Given the description of an element on the screen output the (x, y) to click on. 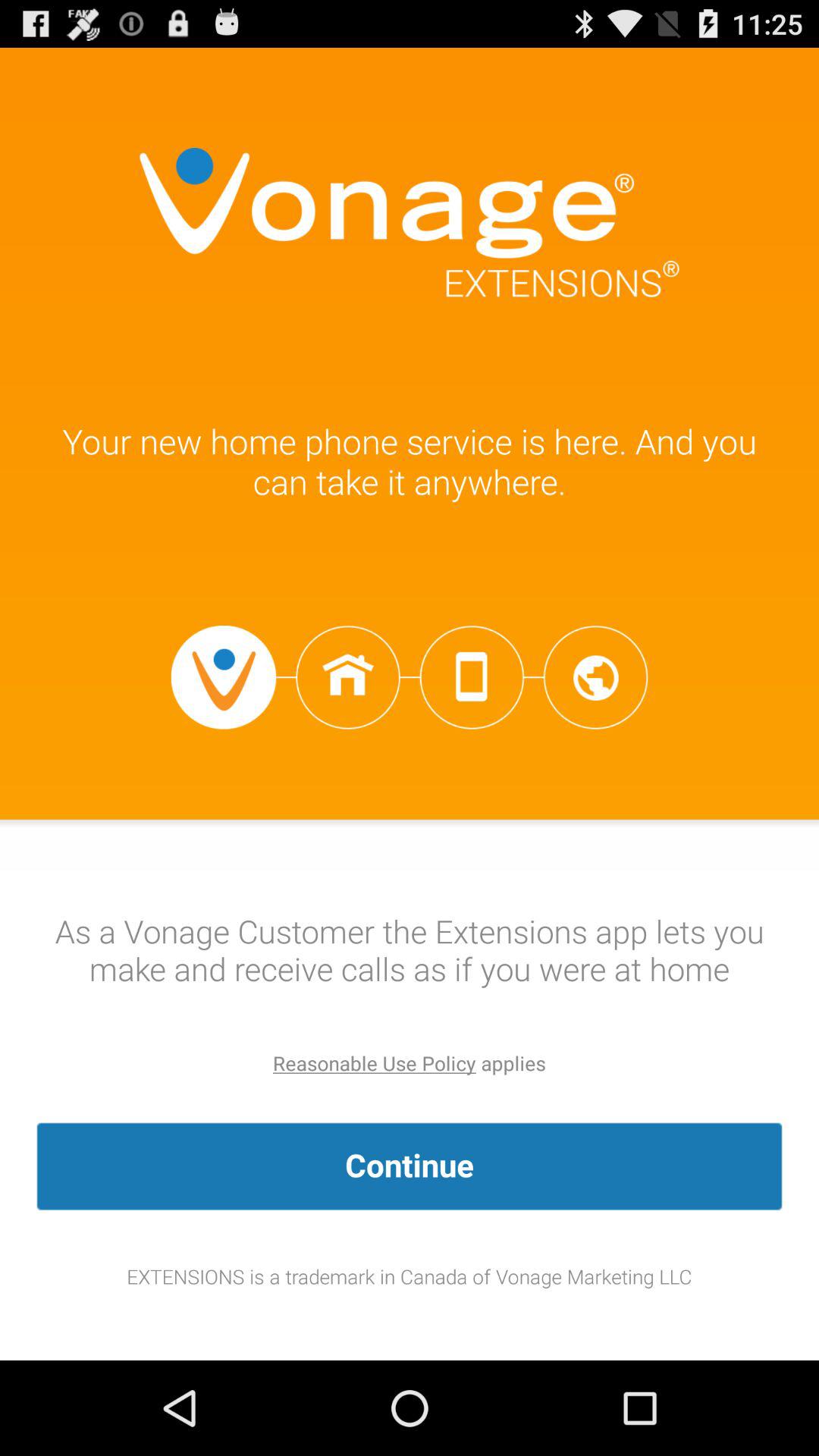
turn on continue item (409, 1166)
